Given the description of an element on the screen output the (x, y) to click on. 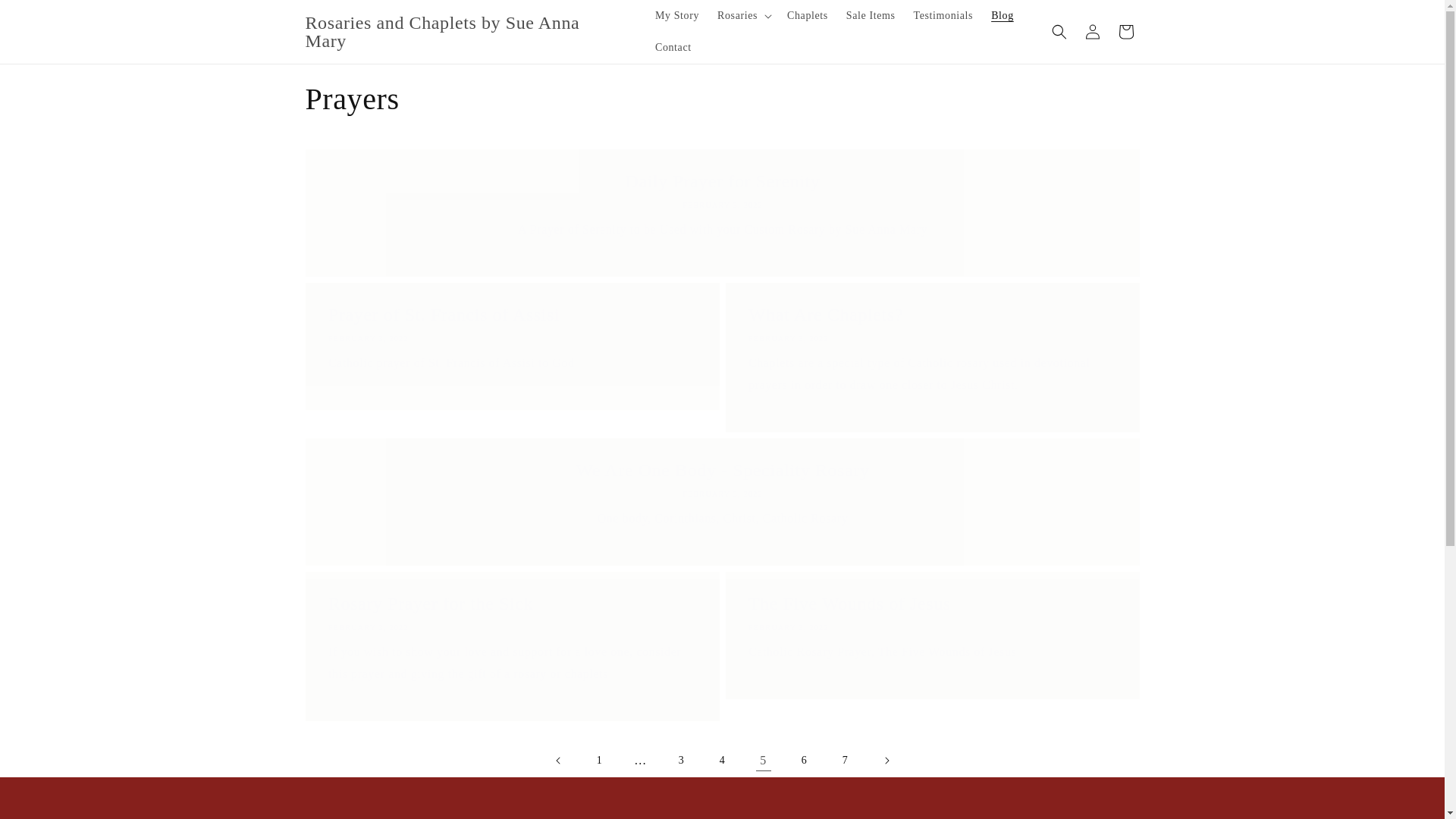
My Story (676, 15)
Rosaries and Chaplets by Sue Anna Mary (464, 32)
Daily Prayer for Serenity (721, 181)
Chaplets (807, 15)
Cart (1124, 31)
Sale Items (870, 15)
Log in (1091, 31)
Contact (673, 47)
Prayers (721, 98)
Skip to content (45, 17)
Testimonials (943, 15)
